Given the description of an element on the screen output the (x, y) to click on. 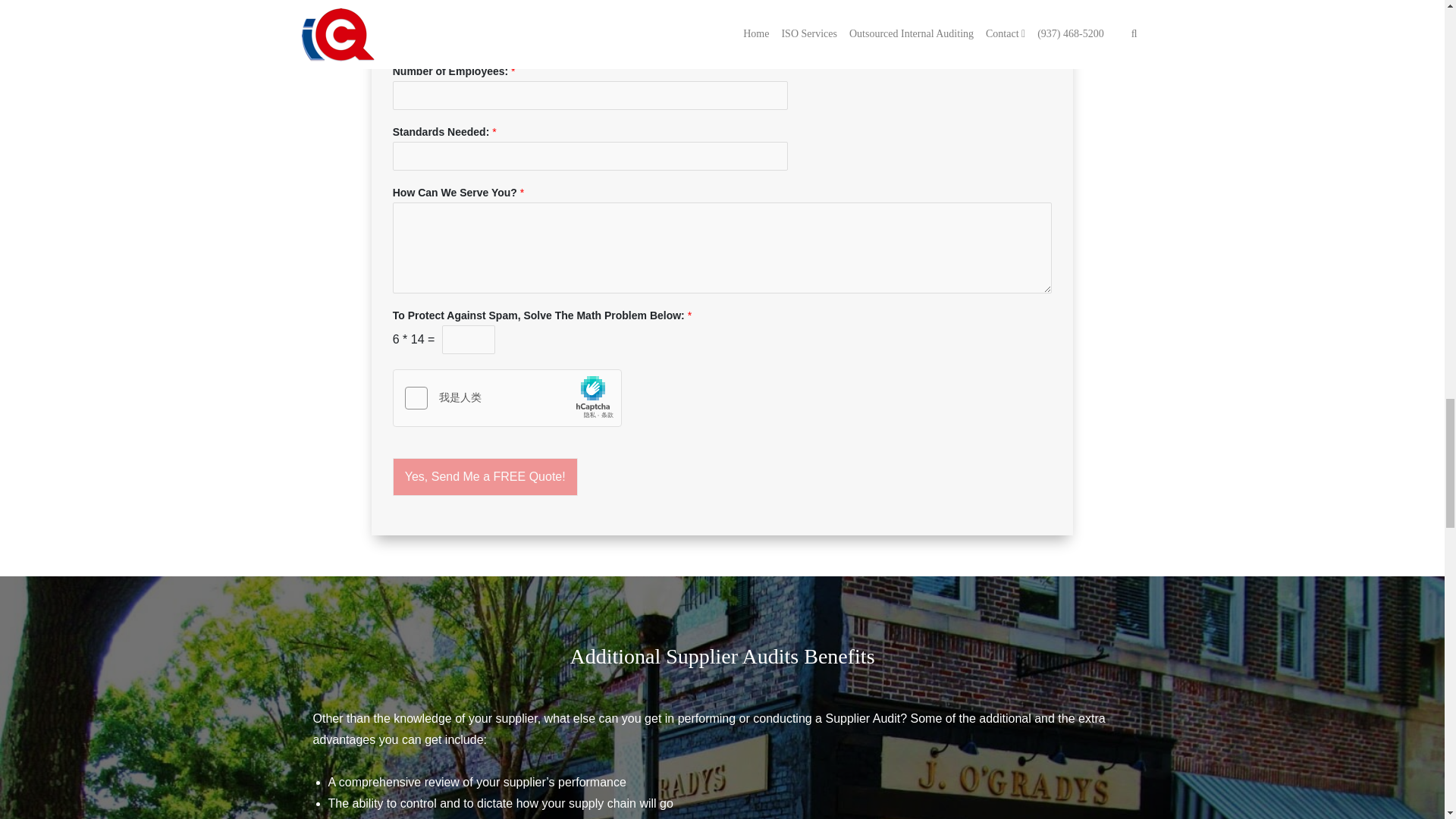
Yes, Send Me a FREE Quote! (485, 476)
